Given the description of an element on the screen output the (x, y) to click on. 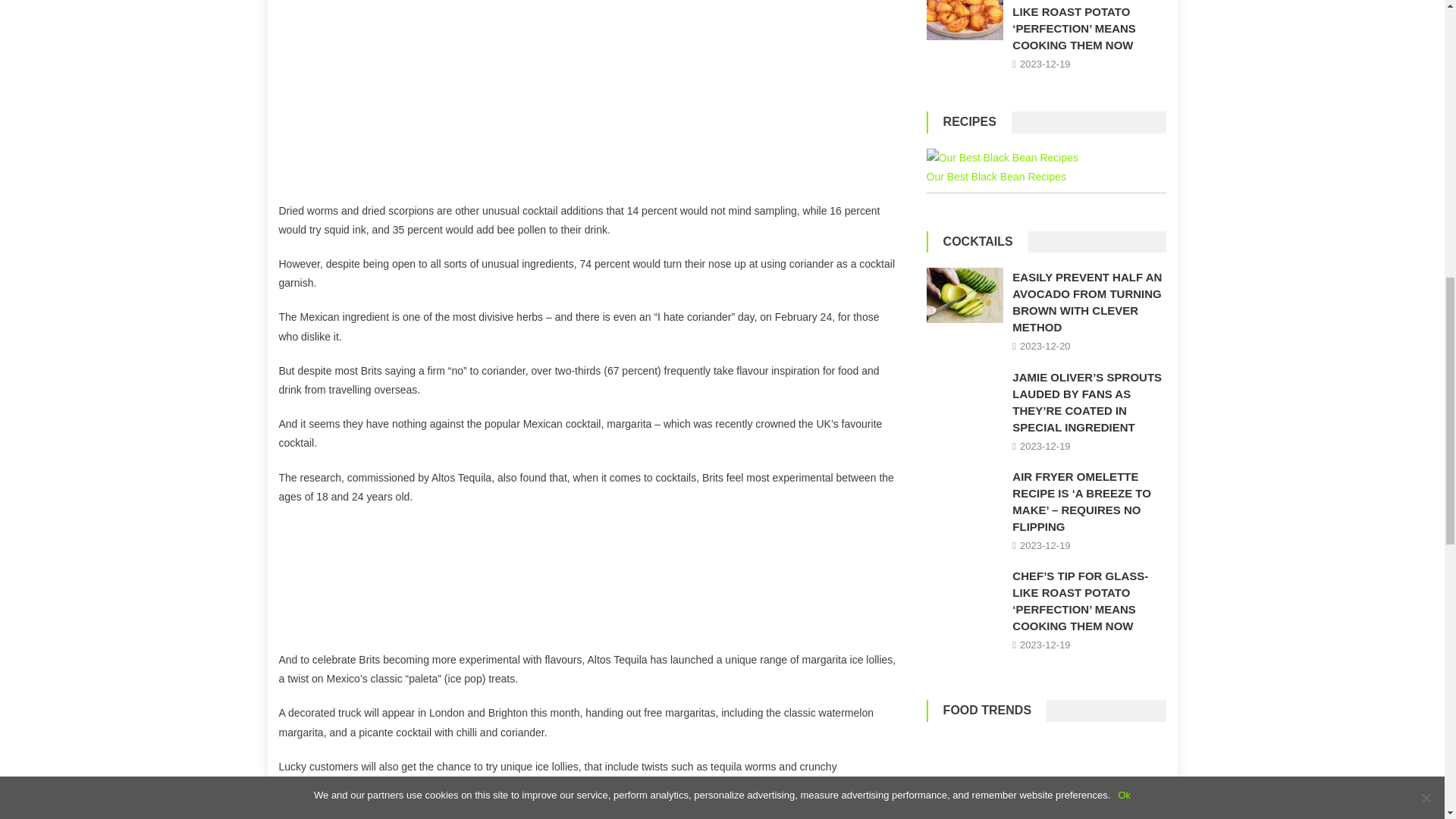
Advertisement (589, 100)
Our Best Black Bean Recipes (1002, 157)
